Given the description of an element on the screen output the (x, y) to click on. 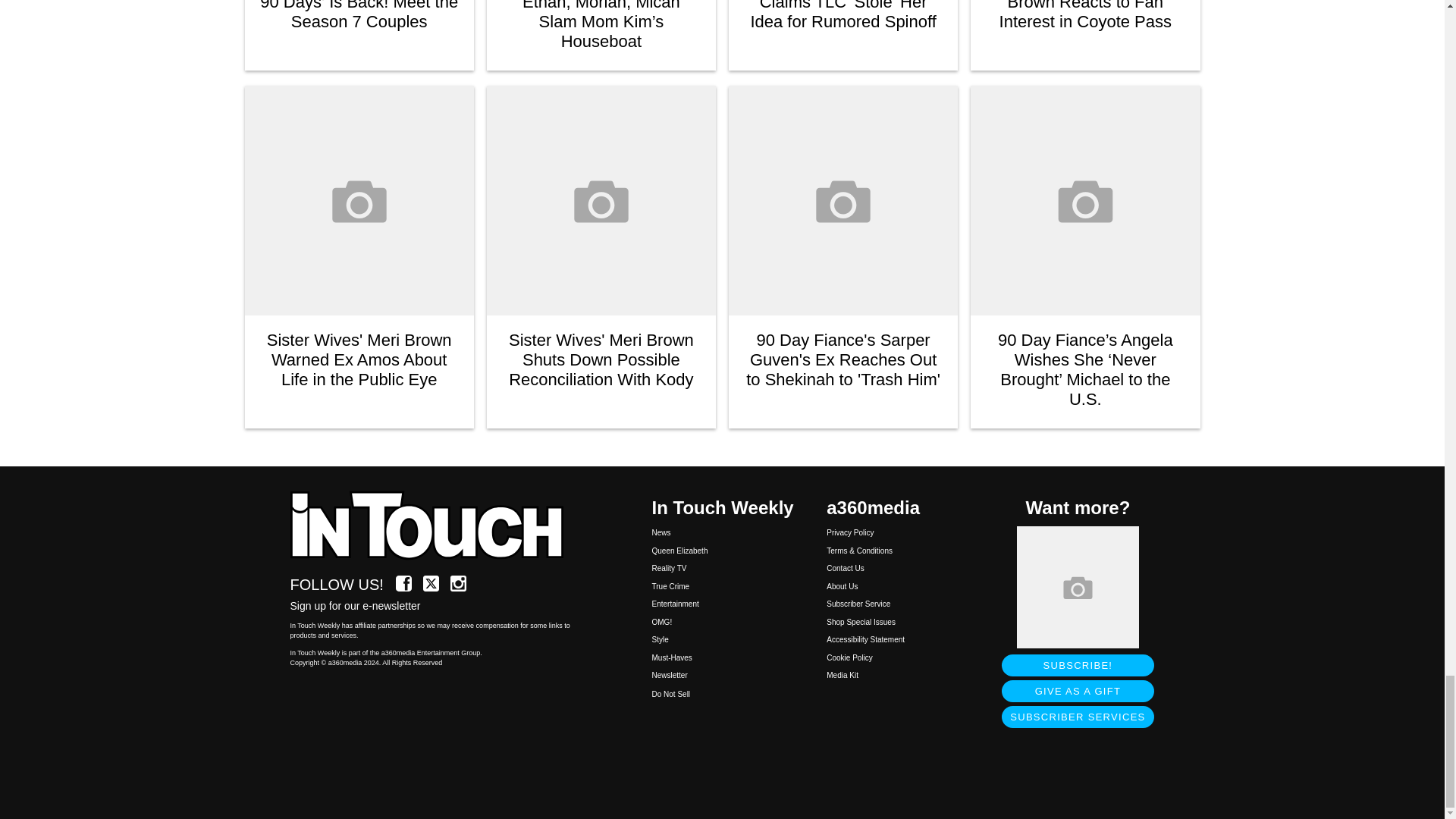
Home (434, 526)
